Given the description of an element on the screen output the (x, y) to click on. 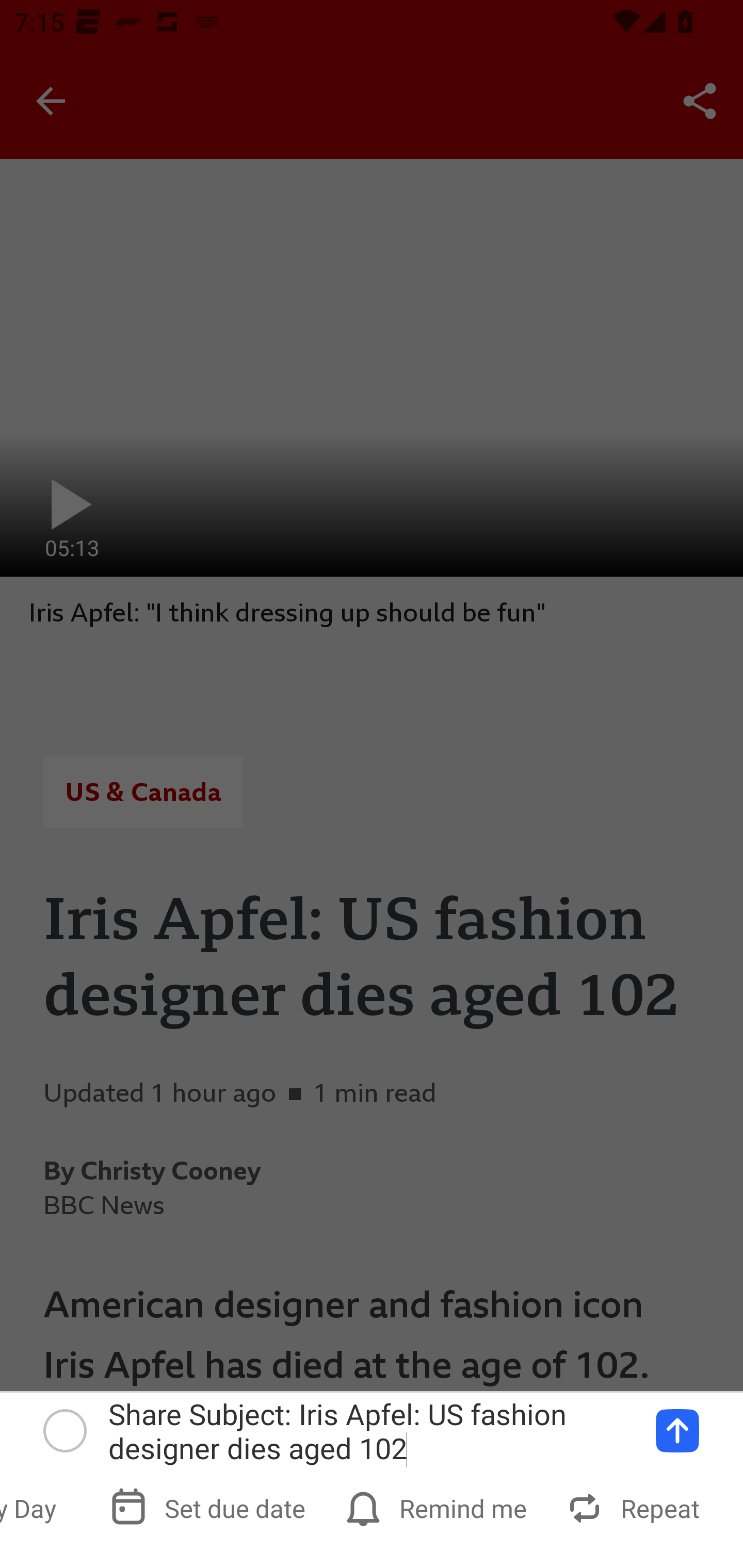
Add a task (676, 1430)
My Day (42, 1507)
Set due date (209, 1507)
Remind me (437, 1507)
Repeat (634, 1507)
